Given the description of an element on the screen output the (x, y) to click on. 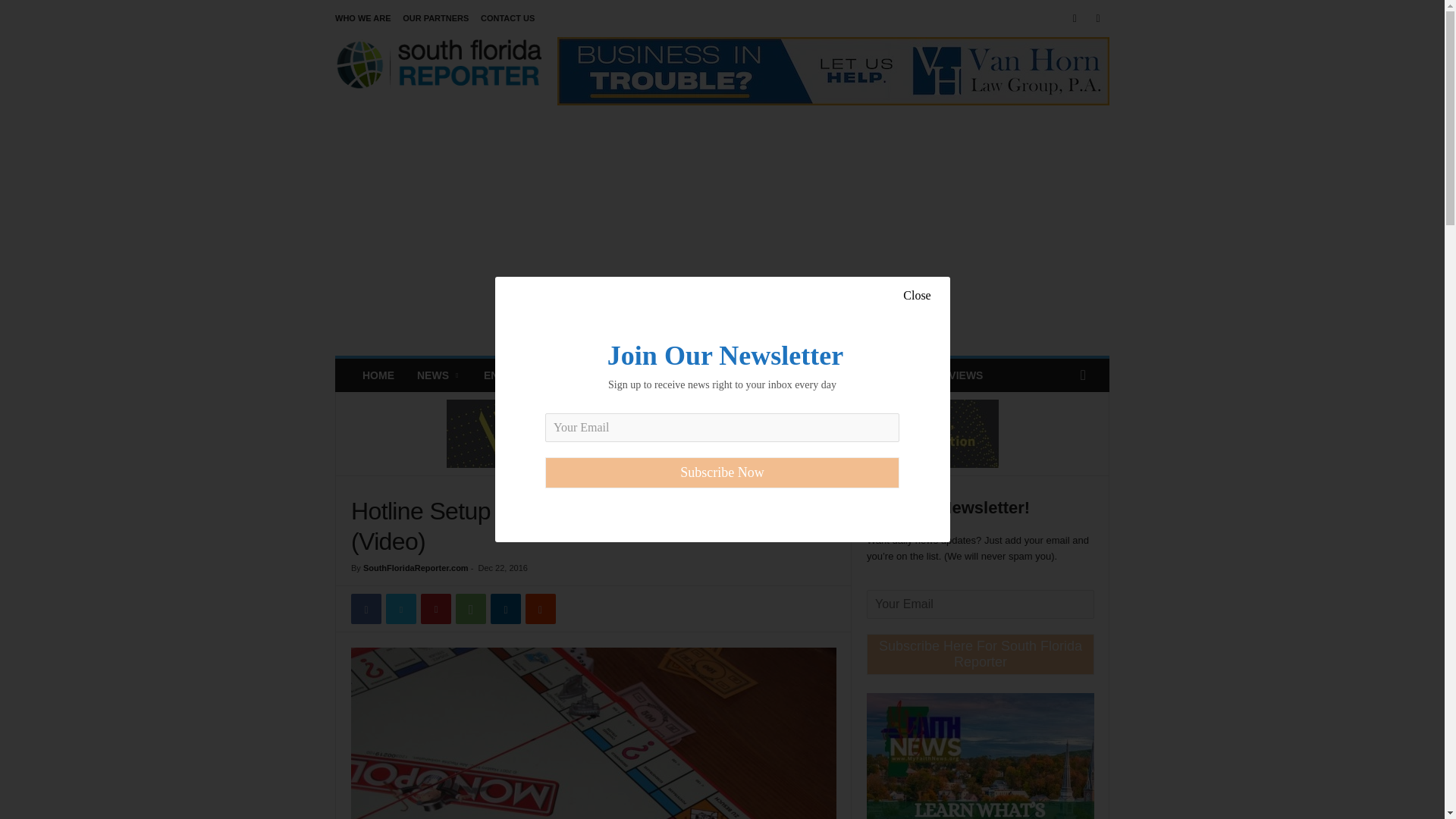
OUR PARTNERS (435, 17)
SouthFloridaReporter.com (415, 567)
Facebook (365, 608)
ENVIRONMENTAL (642, 375)
Pinterest (435, 608)
ReddIt (540, 608)
Linkedin (505, 608)
HOME (378, 375)
WHO WE ARE (362, 17)
HEALTH (732, 375)
WINE REVIEWS (942, 375)
ENTERTAINMENT (528, 375)
TODAY IS (800, 375)
VIDEO (863, 375)
